Given the description of an element on the screen output the (x, y) to click on. 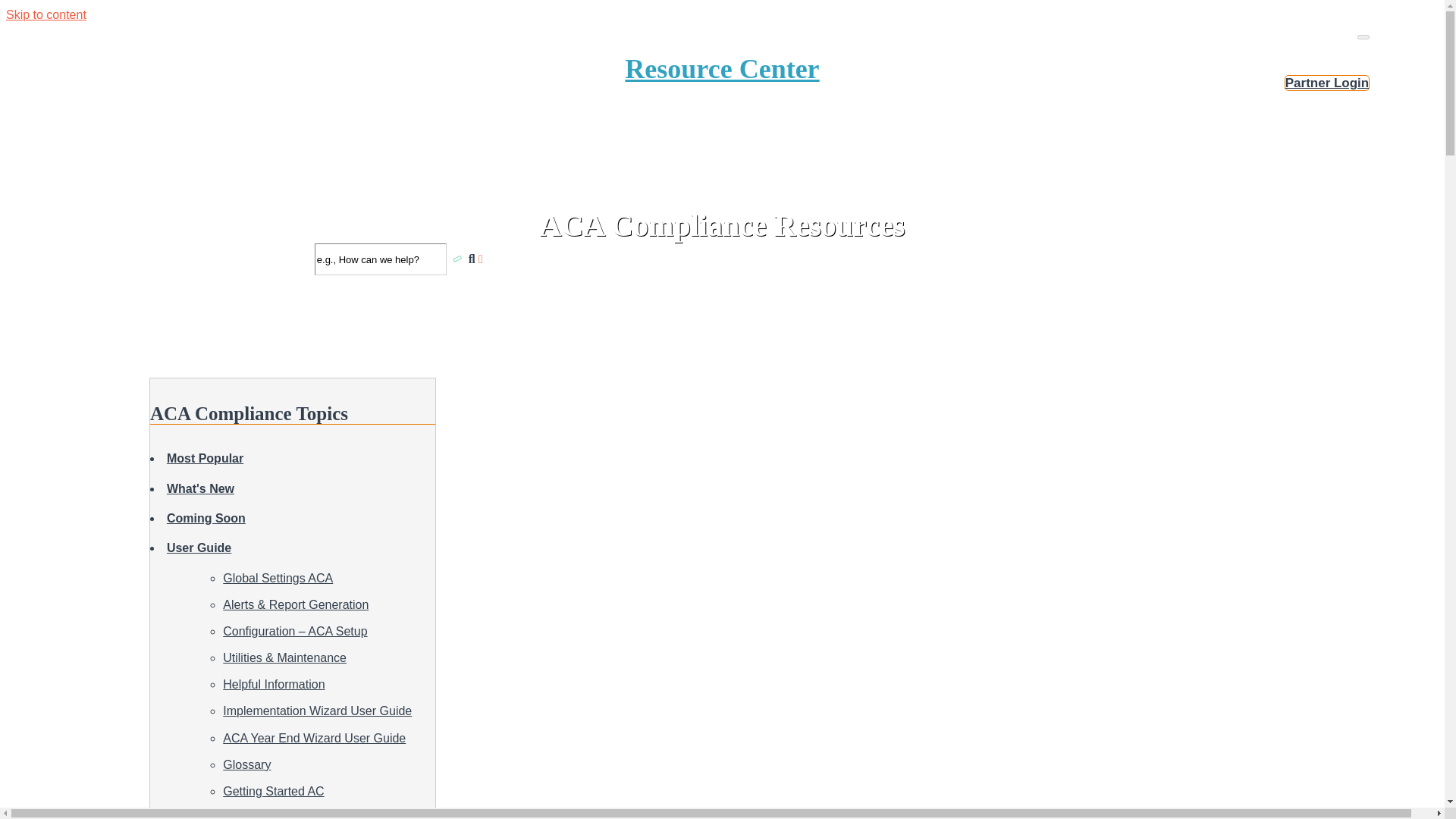
Coming Soon (206, 517)
Helpful Information (273, 684)
Global Settings ACA (277, 577)
Skip to content (45, 14)
Partner Login (1327, 82)
Most Popular (205, 458)
User Guide (272, 790)
